Given the description of an element on the screen output the (x, y) to click on. 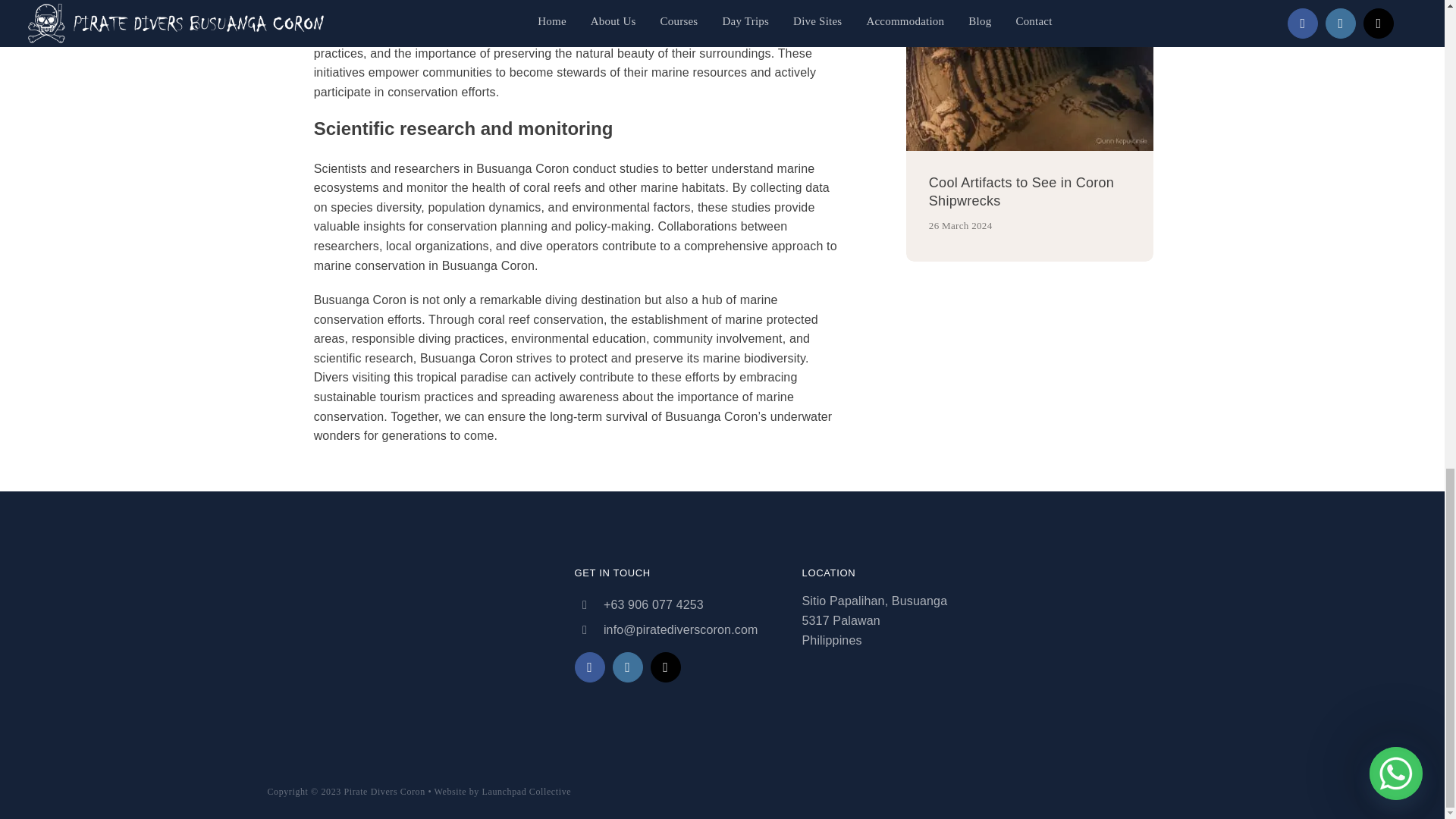
irako6 (1029, 75)
Instagram (627, 666)
Facebook (590, 666)
Tiktok (665, 666)
